Given the description of an element on the screen output the (x, y) to click on. 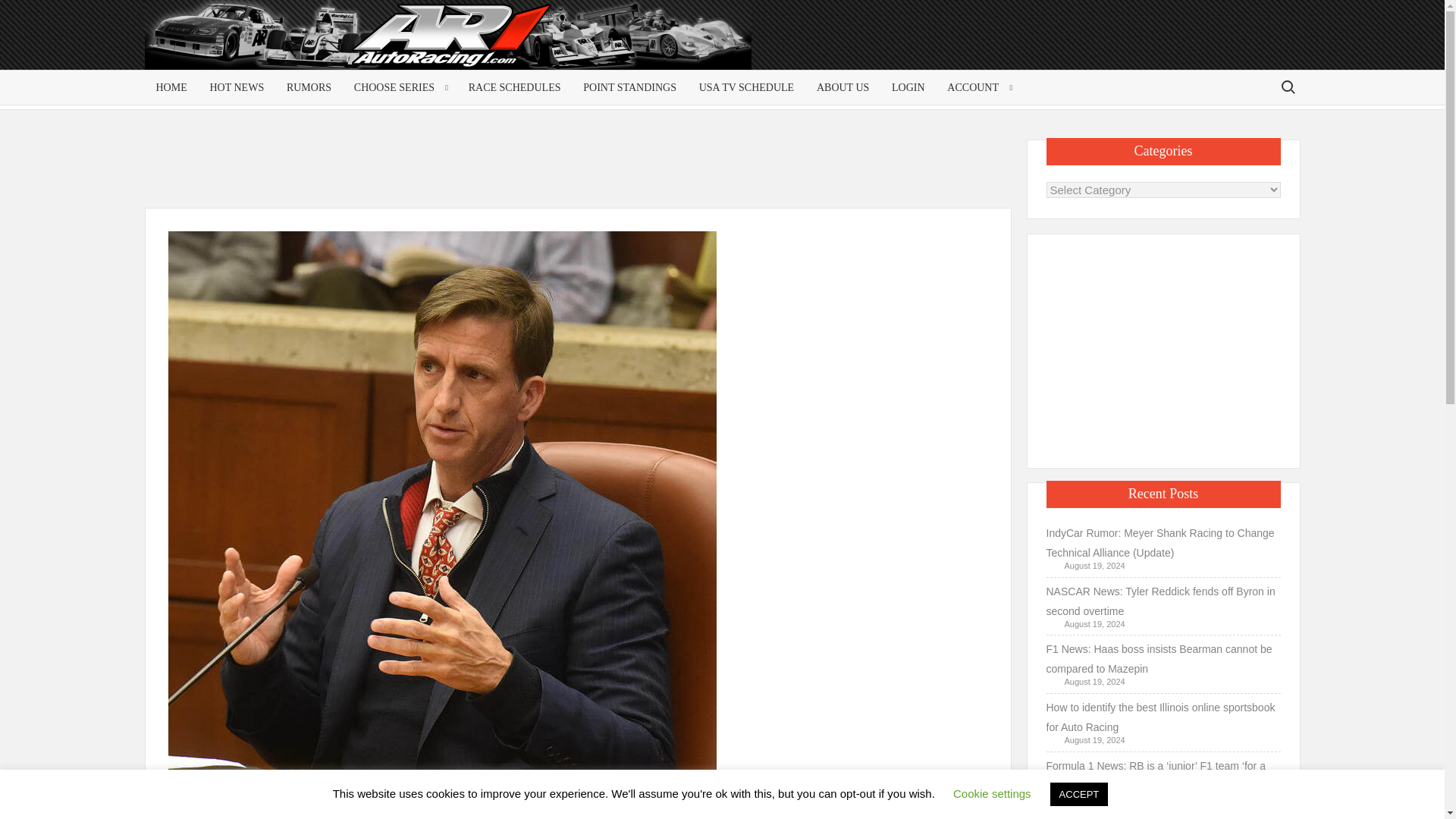
CHOOSE SERIES (399, 87)
RUMORS (308, 87)
Advertisement (580, 173)
AUTORACING1.COM (289, 40)
HOT NEWS (236, 87)
HOME (171, 87)
Advertisement (1162, 348)
Advertisement (1178, 46)
